Given the description of an element on the screen output the (x, y) to click on. 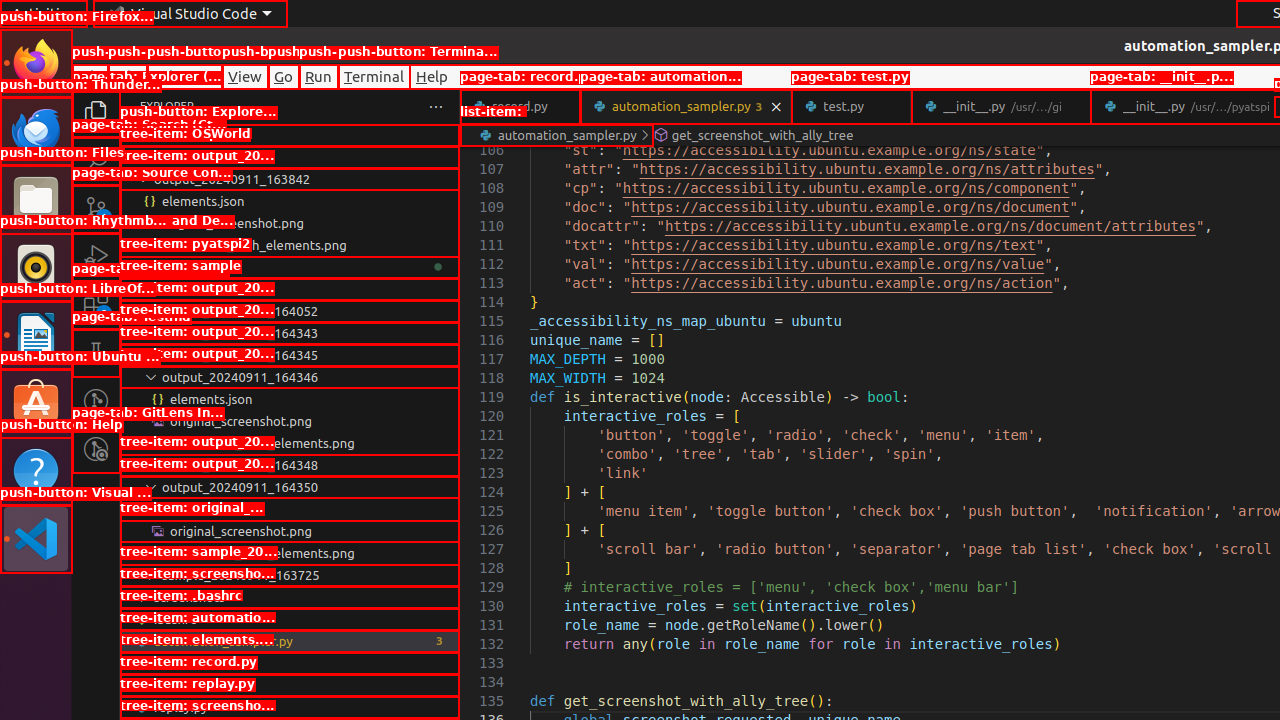
OSWorld Element type: tree-item (289, 157)
screenshots Element type: tree-item (289, 597)
output_20240911_164345 Element type: tree-item (289, 355)
record.py Element type: page-tab (520, 106)
Run and Debug (Ctrl+Shift+D) Element type: page-tab (96, 257)
